Given the description of an element on the screen output the (x, y) to click on. 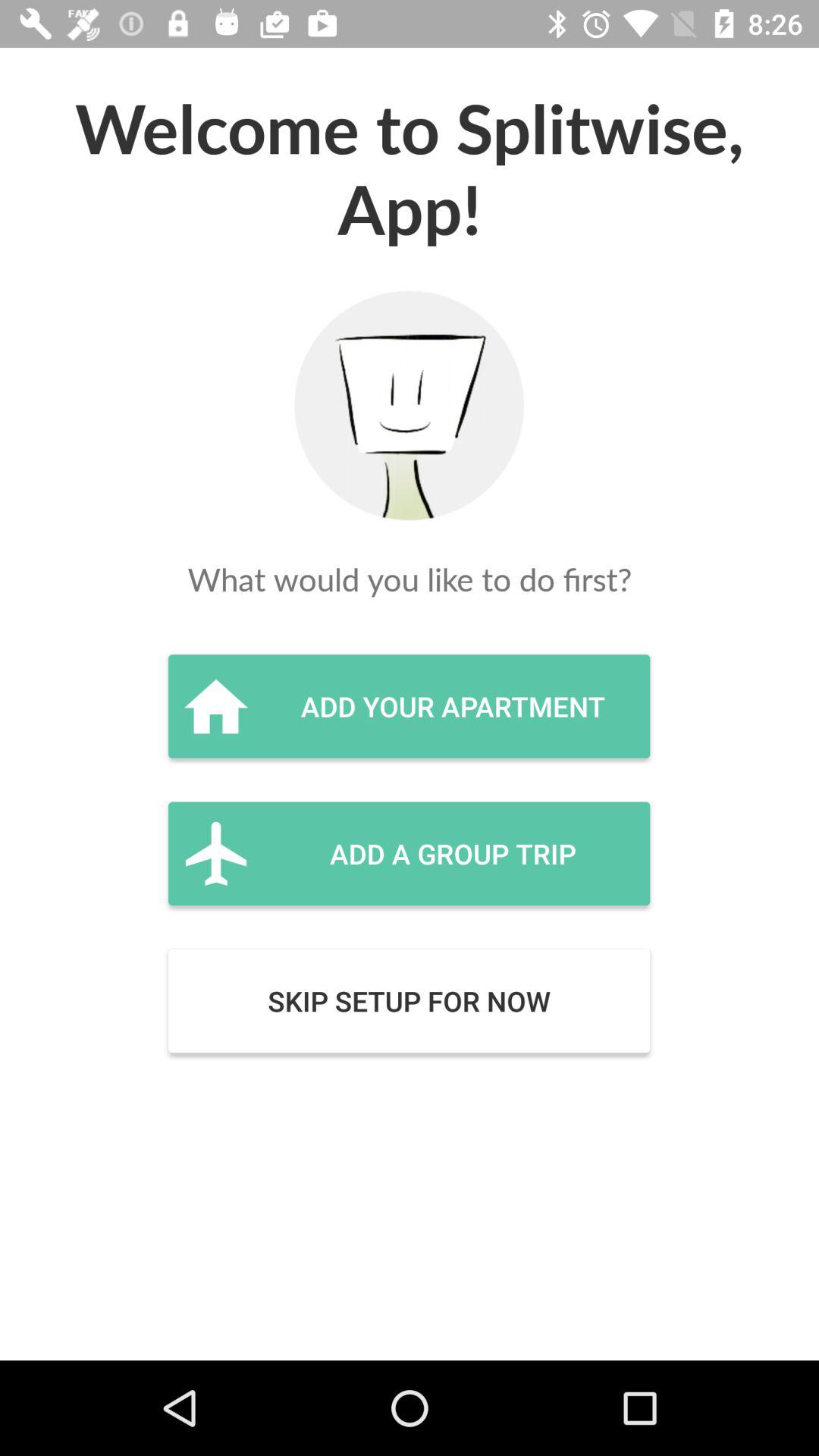
launch add your apartment (409, 706)
